Given the description of an element on the screen output the (x, y) to click on. 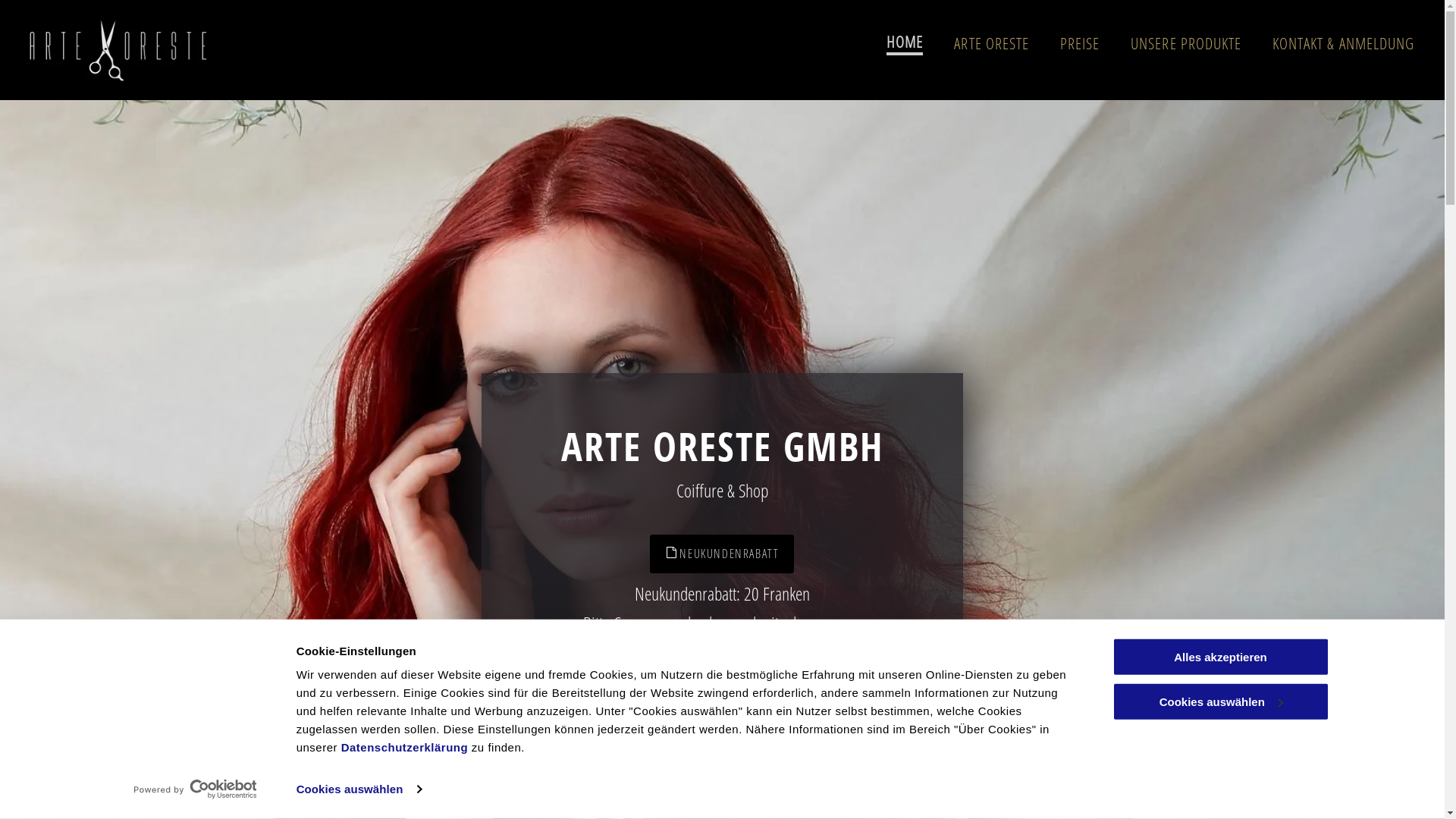
PREISE Element type: text (1079, 43)
NEUKUNDENRABATT Element type: text (721, 553)
UNSERE PRODUKTE Element type: text (1185, 43)
HOME Element type: text (904, 43)
ARTE ORESTE Element type: text (991, 43)
KONTAKT & ANMELDUNG Element type: text (1343, 43)
Alles akzeptieren Element type: text (1219, 656)
